Given the description of an element on the screen output the (x, y) to click on. 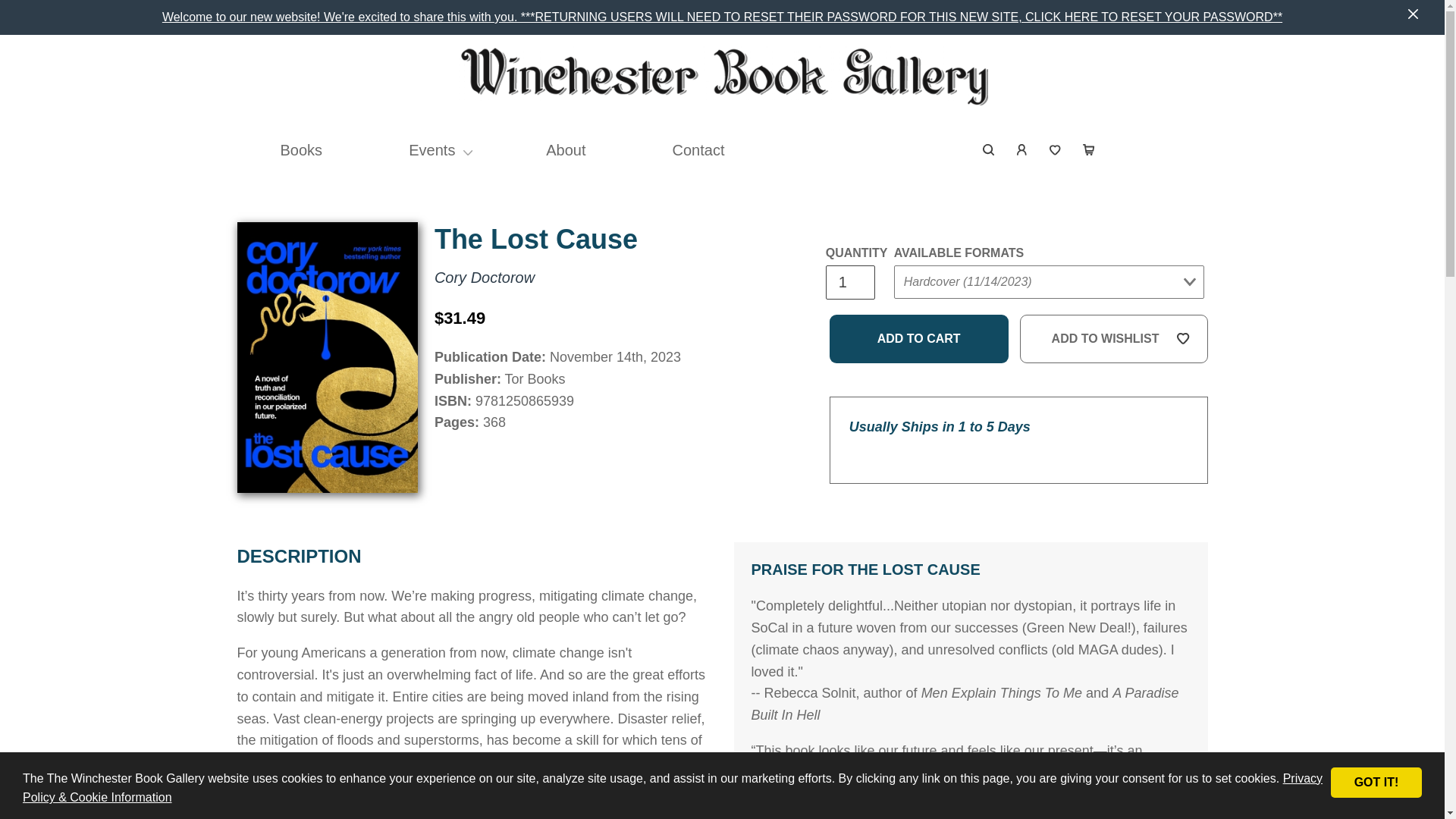
Search (989, 150)
Log in (1022, 150)
Add to cart (919, 338)
Log in (1022, 150)
Cart (1088, 150)
Cart (1088, 150)
ADD TO WISHLIST (1114, 338)
Submit (1169, 137)
Submit (922, 311)
Wishlists (1055, 150)
Contact (698, 150)
Wishlist (1055, 150)
Events (431, 150)
Books (301, 150)
